Given the description of an element on the screen output the (x, y) to click on. 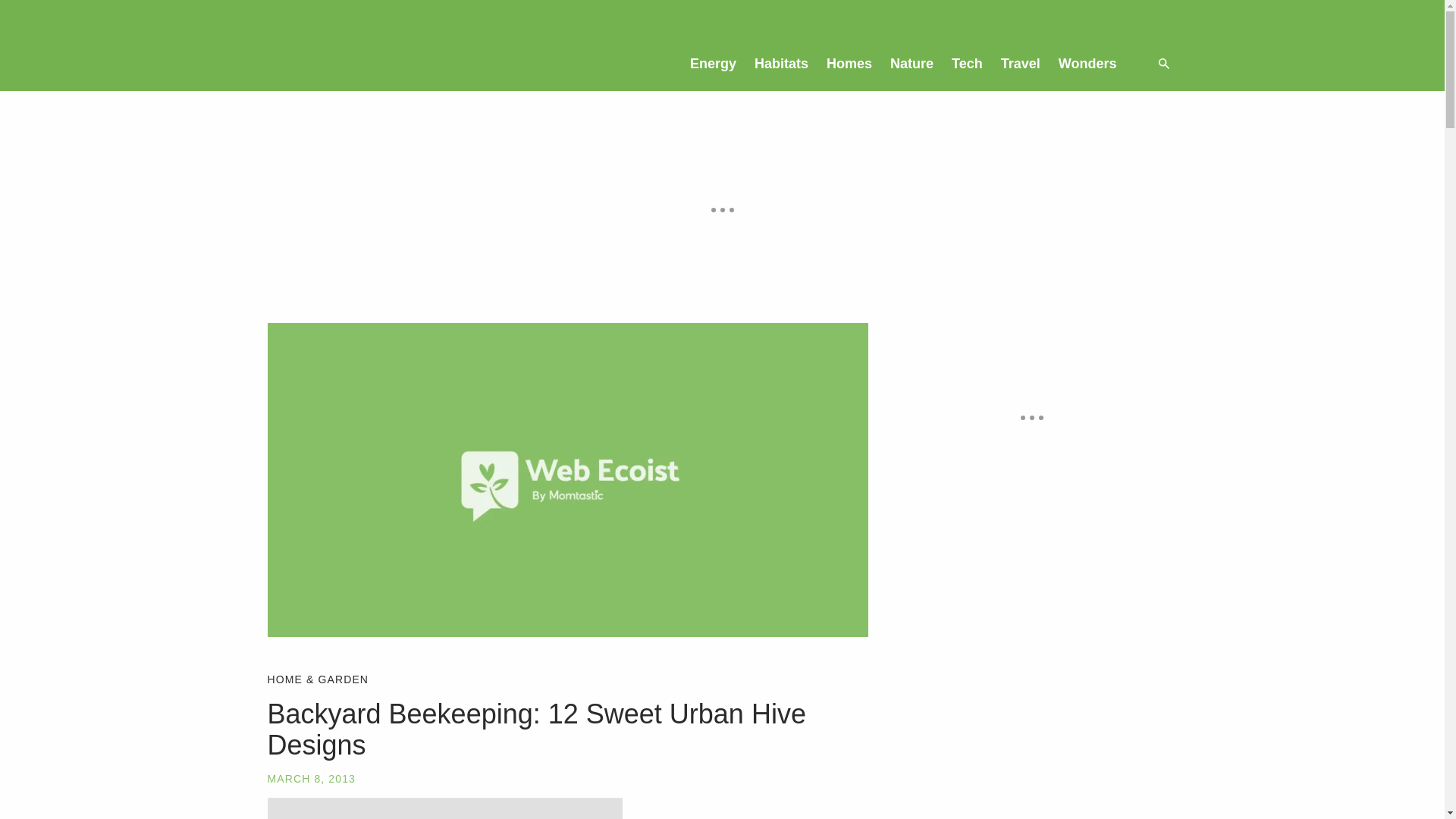
Travel (1020, 63)
Nature (911, 63)
Homes (848, 63)
Tech (966, 63)
Energy (713, 63)
Habitats (780, 63)
Wonders (1087, 63)
Beehive Designs main (443, 808)
